Given the description of an element on the screen output the (x, y) to click on. 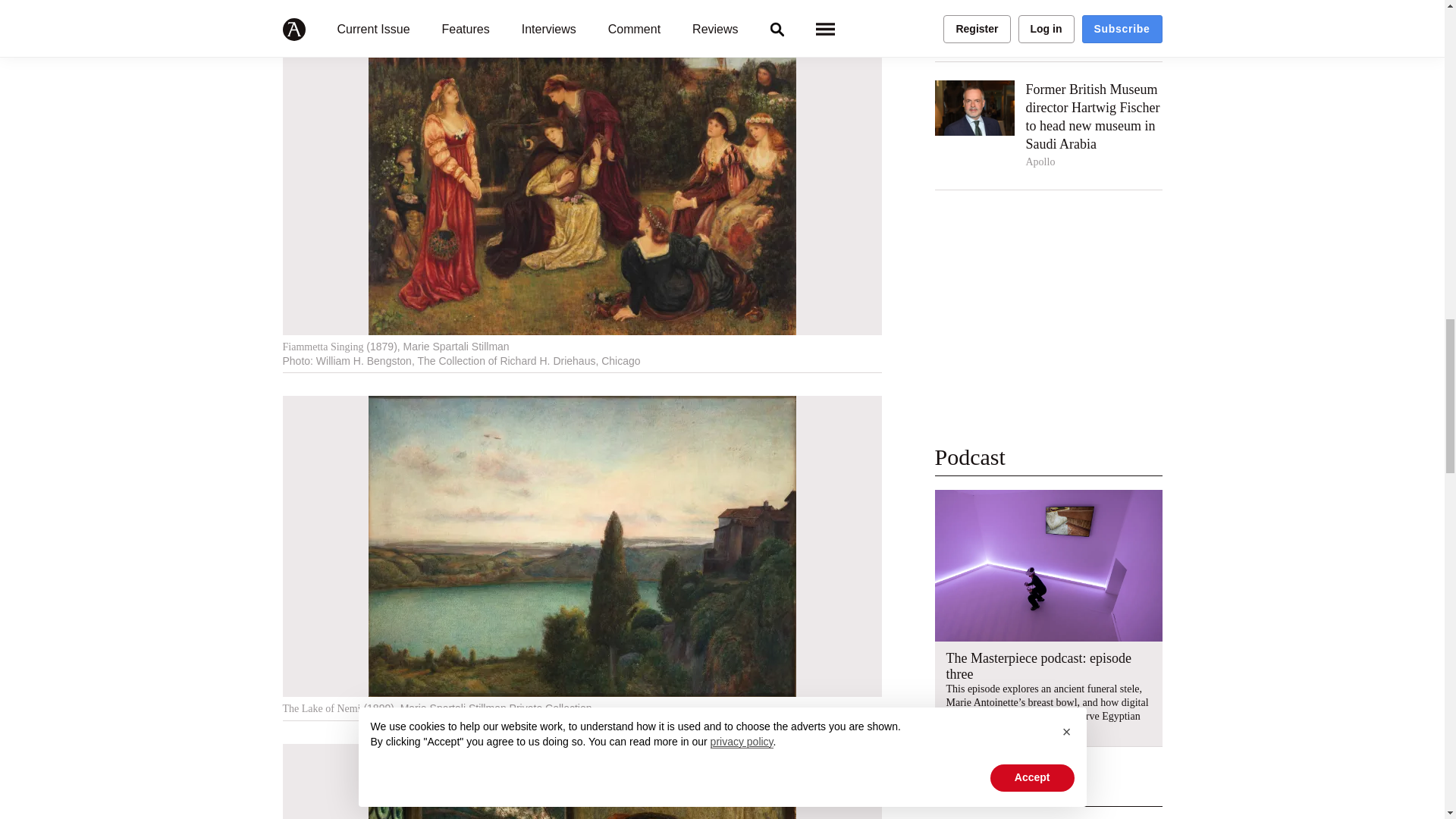
3rd party ad content (1047, 325)
